Given the description of an element on the screen output the (x, y) to click on. 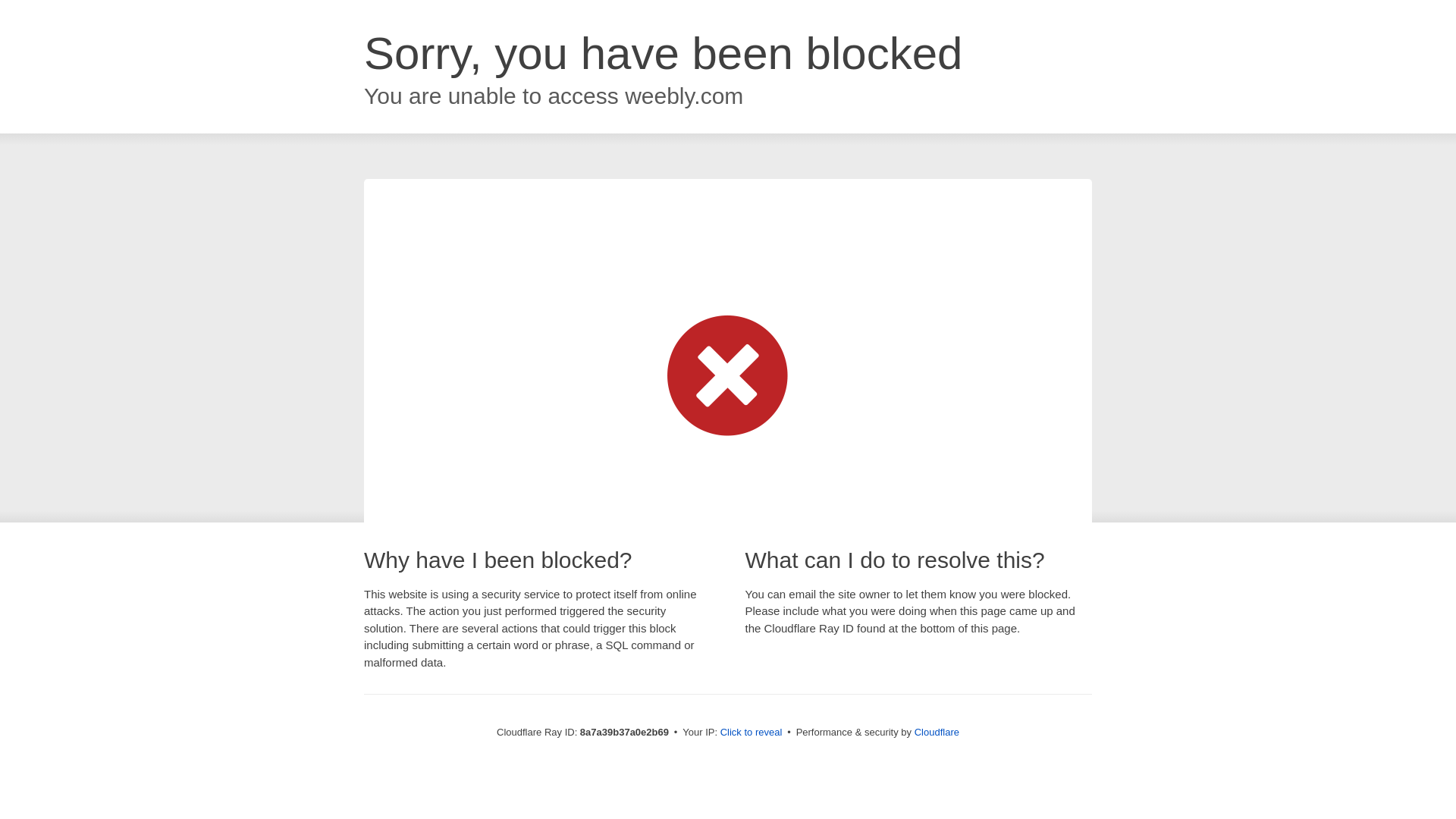
Click to reveal (751, 732)
Cloudflare (936, 731)
